Given the description of an element on the screen output the (x, y) to click on. 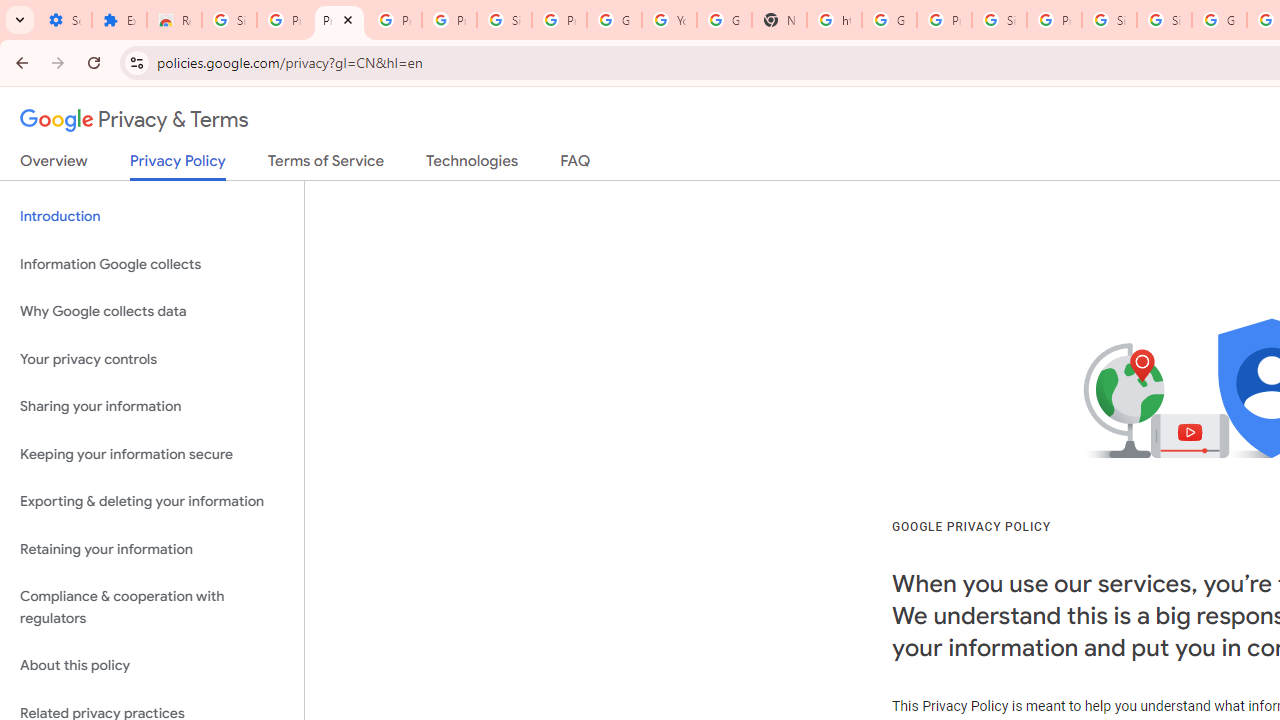
YouTube (669, 20)
Sharing your information (152, 407)
Sign in - Google Accounts (504, 20)
Sign in - Google Accounts (229, 20)
Sign in - Google Accounts (1163, 20)
Reviews: Helix Fruit Jump Arcade Game (174, 20)
Information Google collects (152, 263)
